Given the description of an element on the screen output the (x, y) to click on. 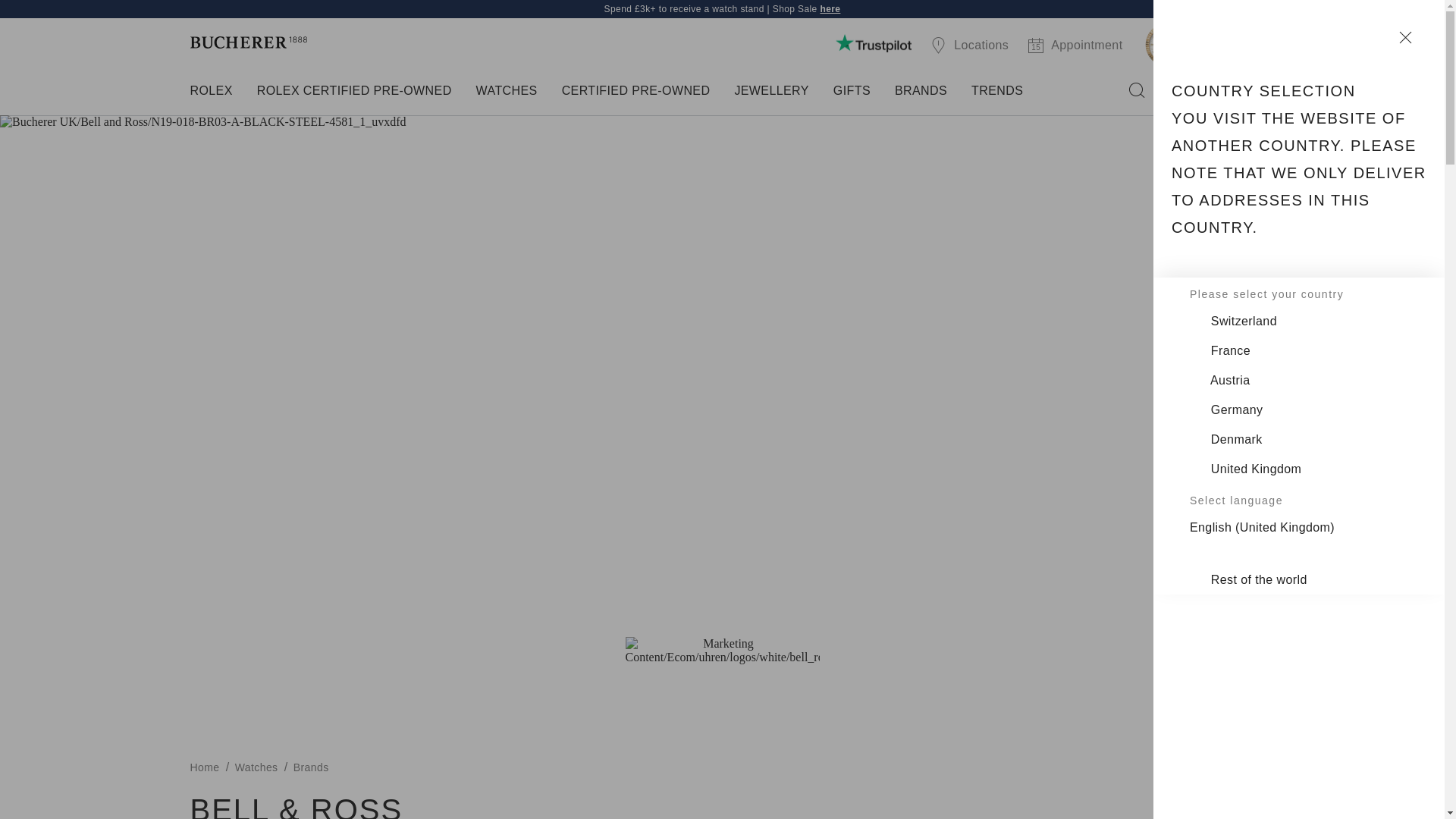
Cart 0 Items (1235, 90)
ROLEX (210, 90)
ROLEX CERTIFIED PRE-OWNED (354, 90)
Login to your account (1162, 90)
WATCHES (507, 90)
